Given the description of an element on the screen output the (x, y) to click on. 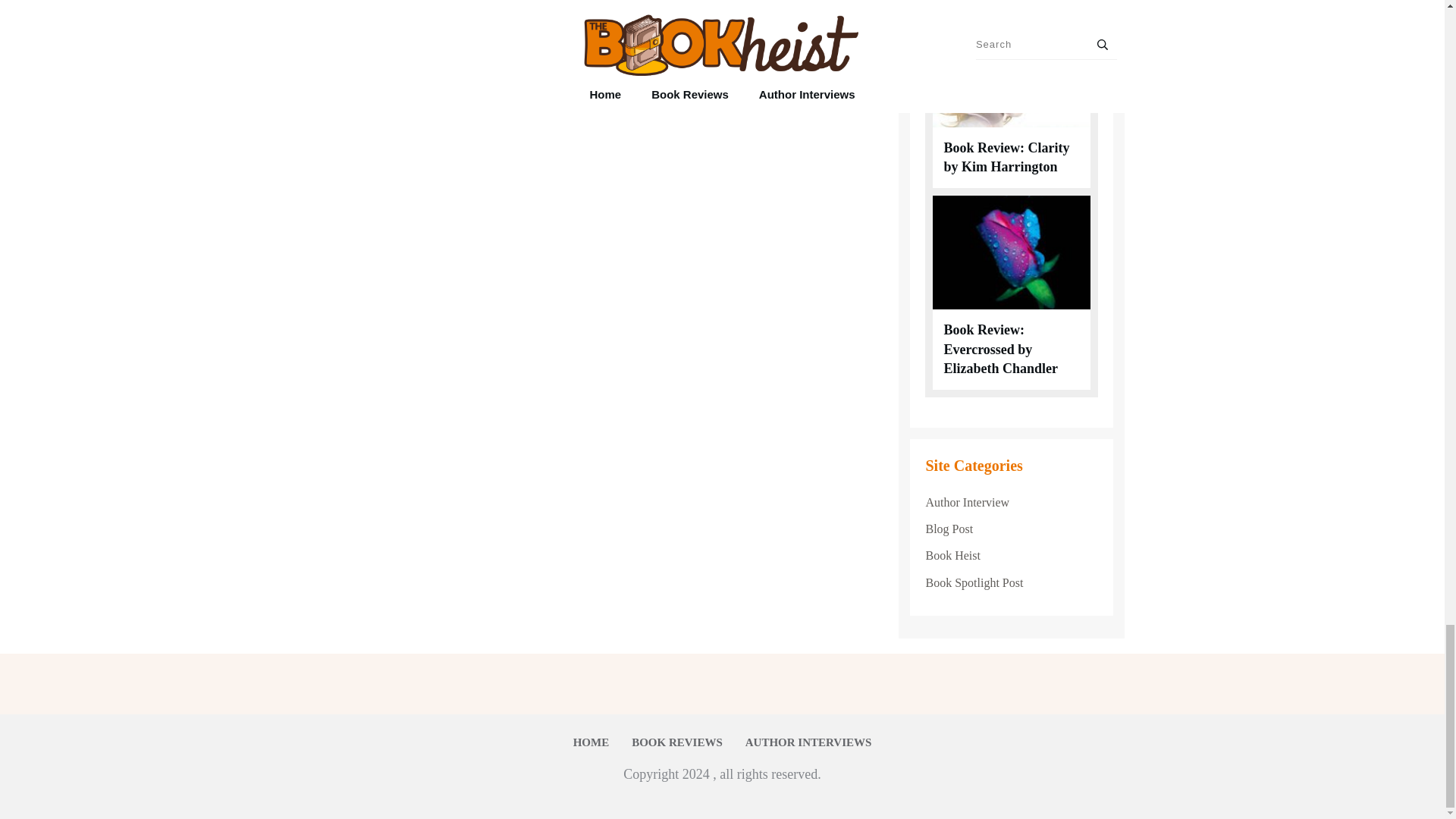
Book Review: Evercrossed by Elizabeth Chandler (1000, 348)
Book Review: Clarity by Kim Harrington (1005, 157)
